Given the description of an element on the screen output the (x, y) to click on. 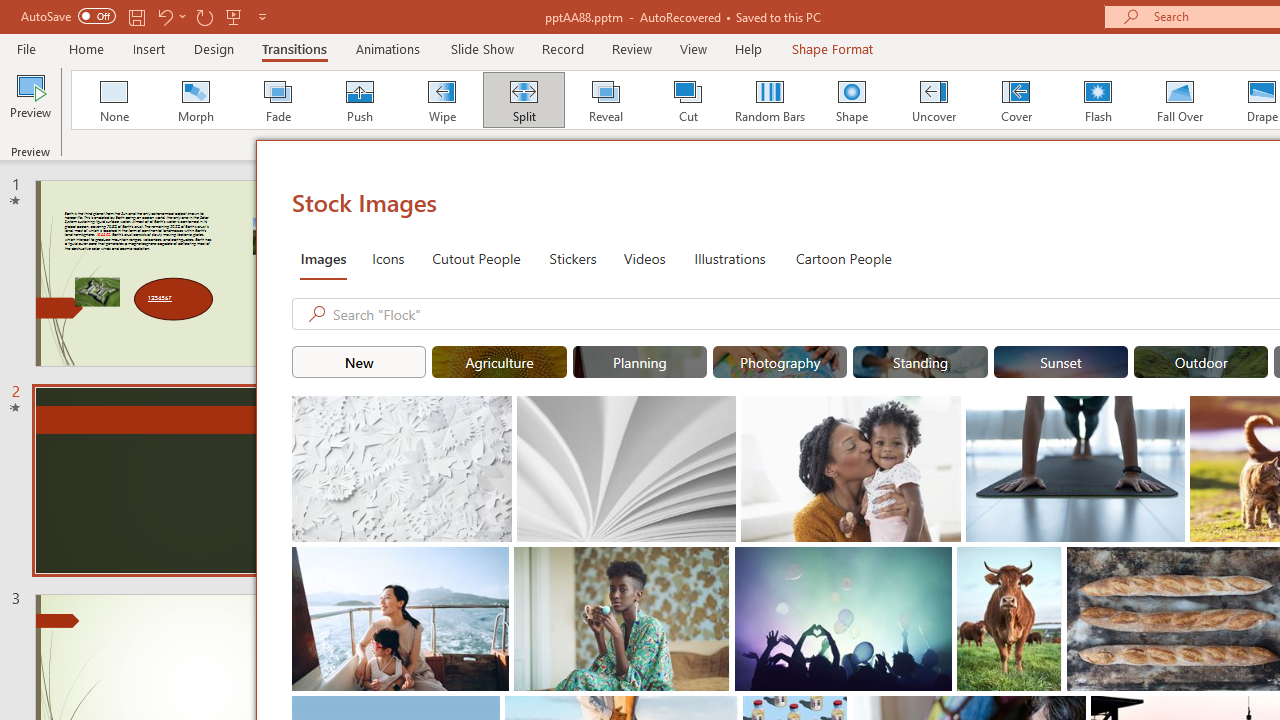
Uncover (934, 100)
From Beginning (234, 15)
Push (359, 100)
Shape Format (832, 48)
Thumbnail (1046, 561)
File Tab (26, 48)
Help (748, 48)
Videos (644, 258)
Flash (1098, 100)
Stickers (573, 258)
System (10, 11)
Cutout People (477, 258)
Home (86, 48)
System (10, 11)
Design (214, 48)
